Given the description of an element on the screen output the (x, y) to click on. 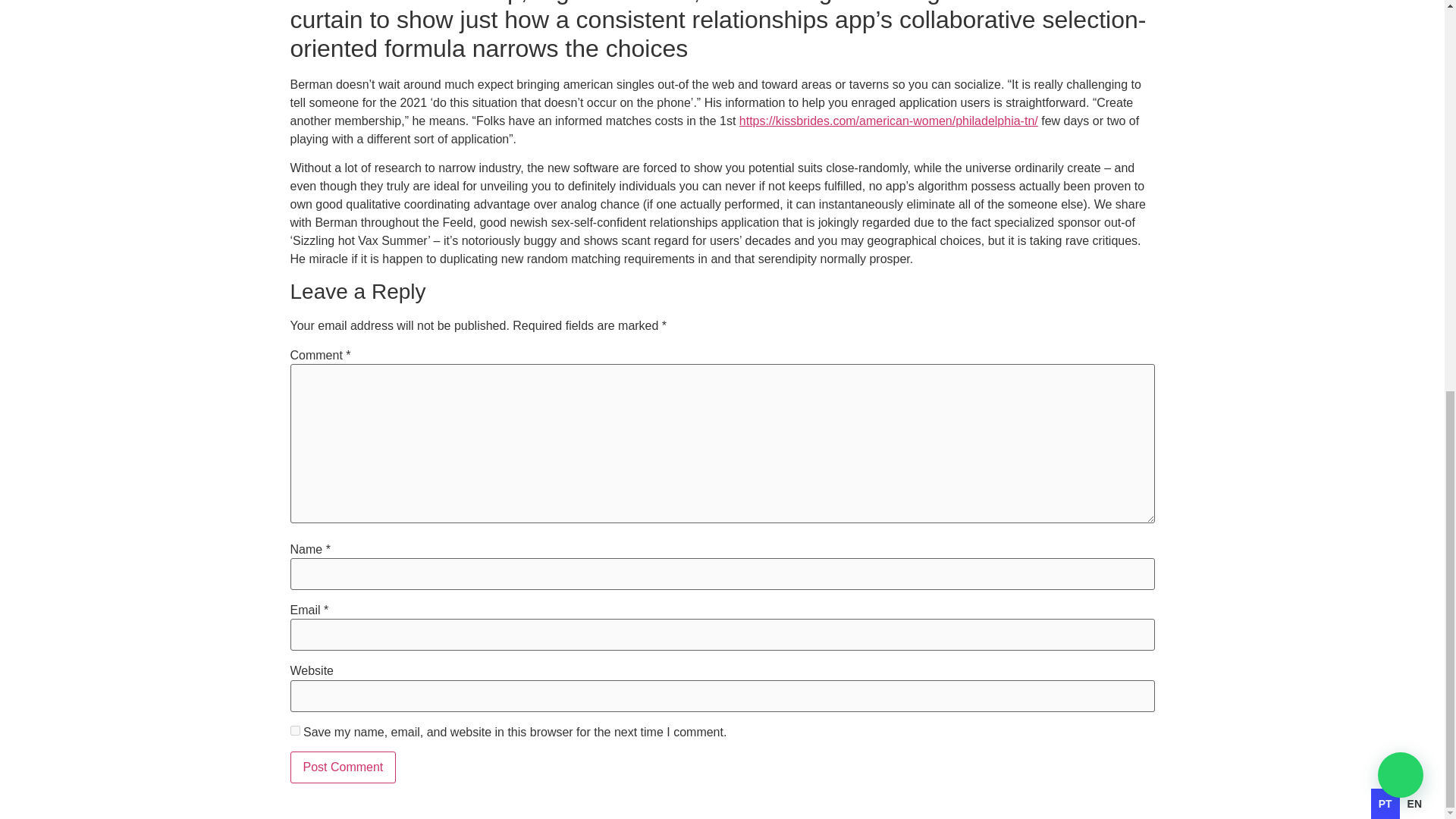
Post Comment (342, 766)
EN (1414, 56)
yes (294, 730)
PT (1384, 56)
Post Comment (342, 766)
